Given the description of an element on the screen output the (x, y) to click on. 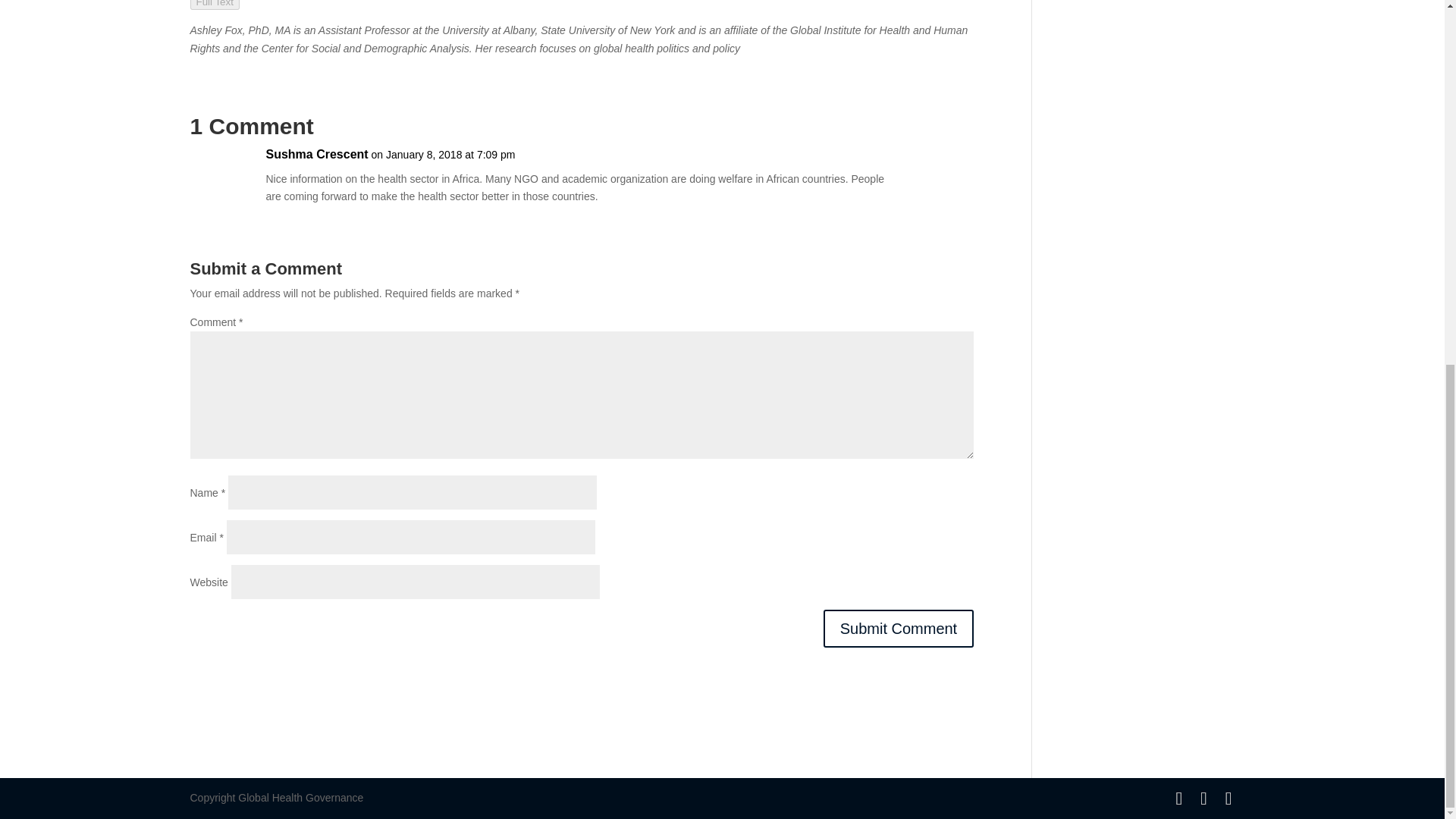
Submit Comment (899, 628)
Sushma Crescent (316, 154)
Submit Comment (899, 628)
Full Text (213, 4)
Full Text (213, 3)
